Given the description of an element on the screen output the (x, y) to click on. 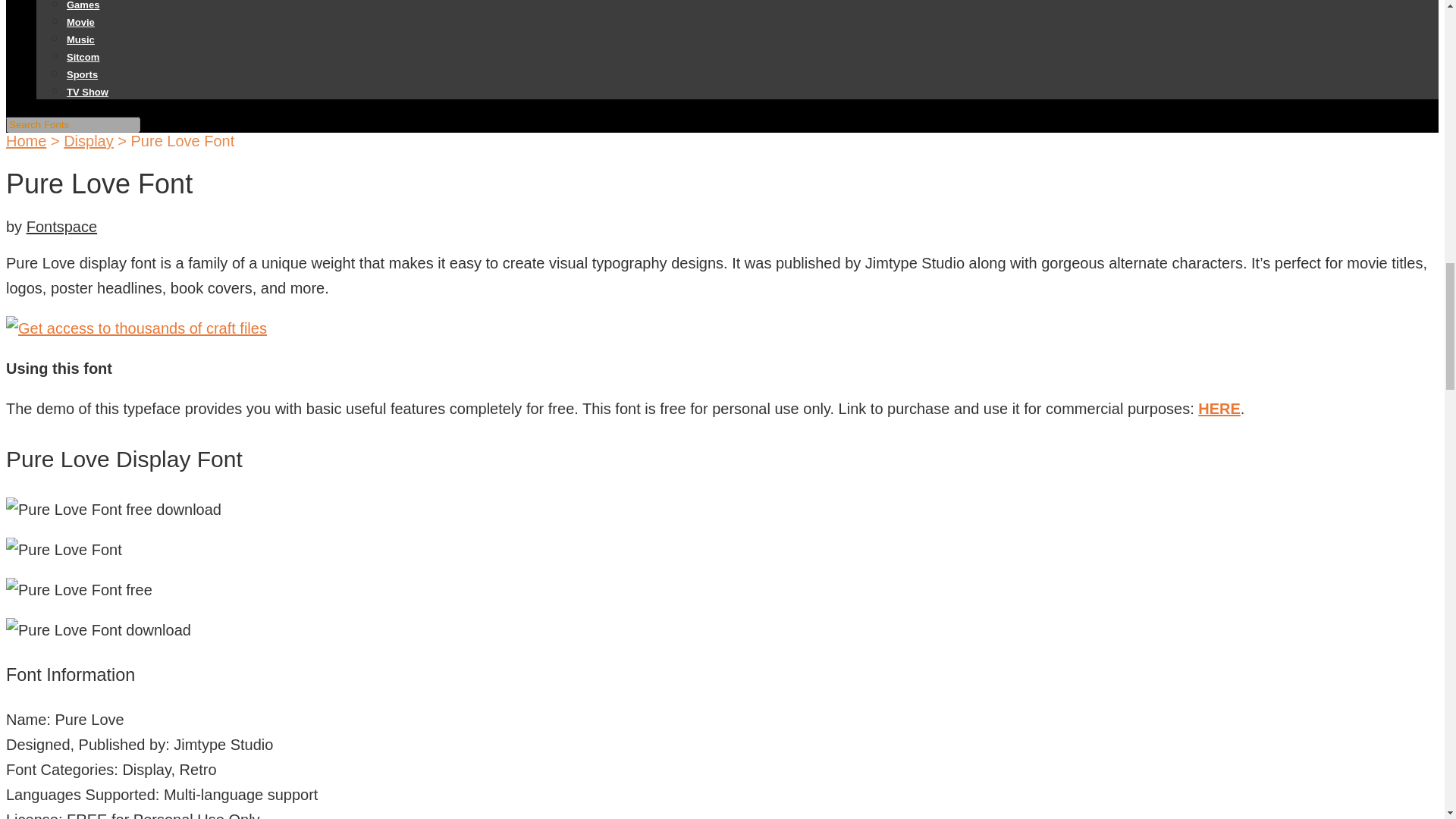
Get access to thousands of craft files (135, 328)
